Given the description of an element on the screen output the (x, y) to click on. 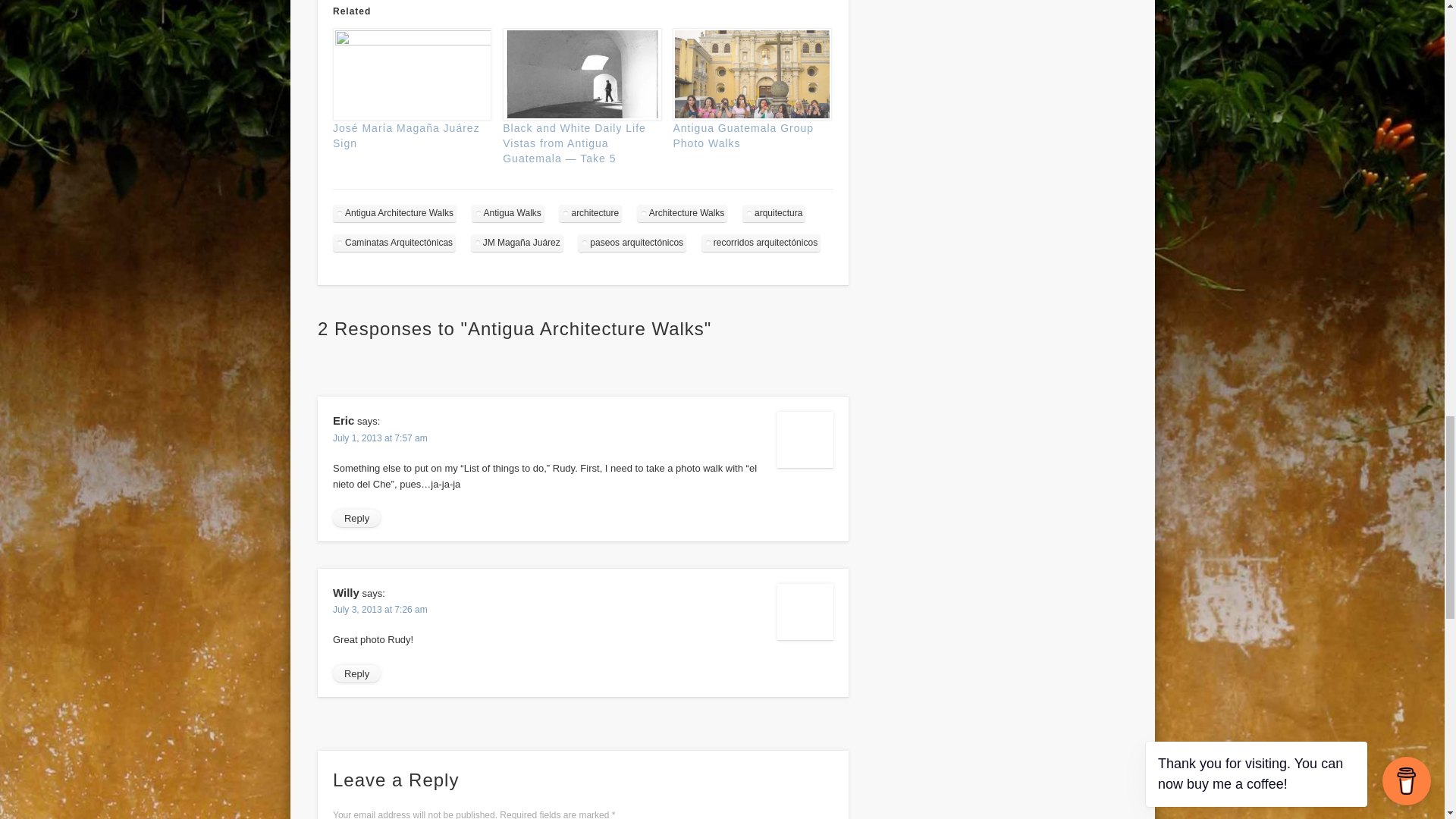
Antigua Guatemala Group Photo Walks (749, 73)
Antigua Guatemala Group Photo Walks (742, 135)
Architecture Walks (682, 212)
Antigua Guatemala Group Photo Walks (742, 135)
arquitectura (773, 212)
Antigua Architecture Walks (395, 212)
architecture (590, 212)
Antigua Walks (507, 212)
